Given the description of an element on the screen output the (x, y) to click on. 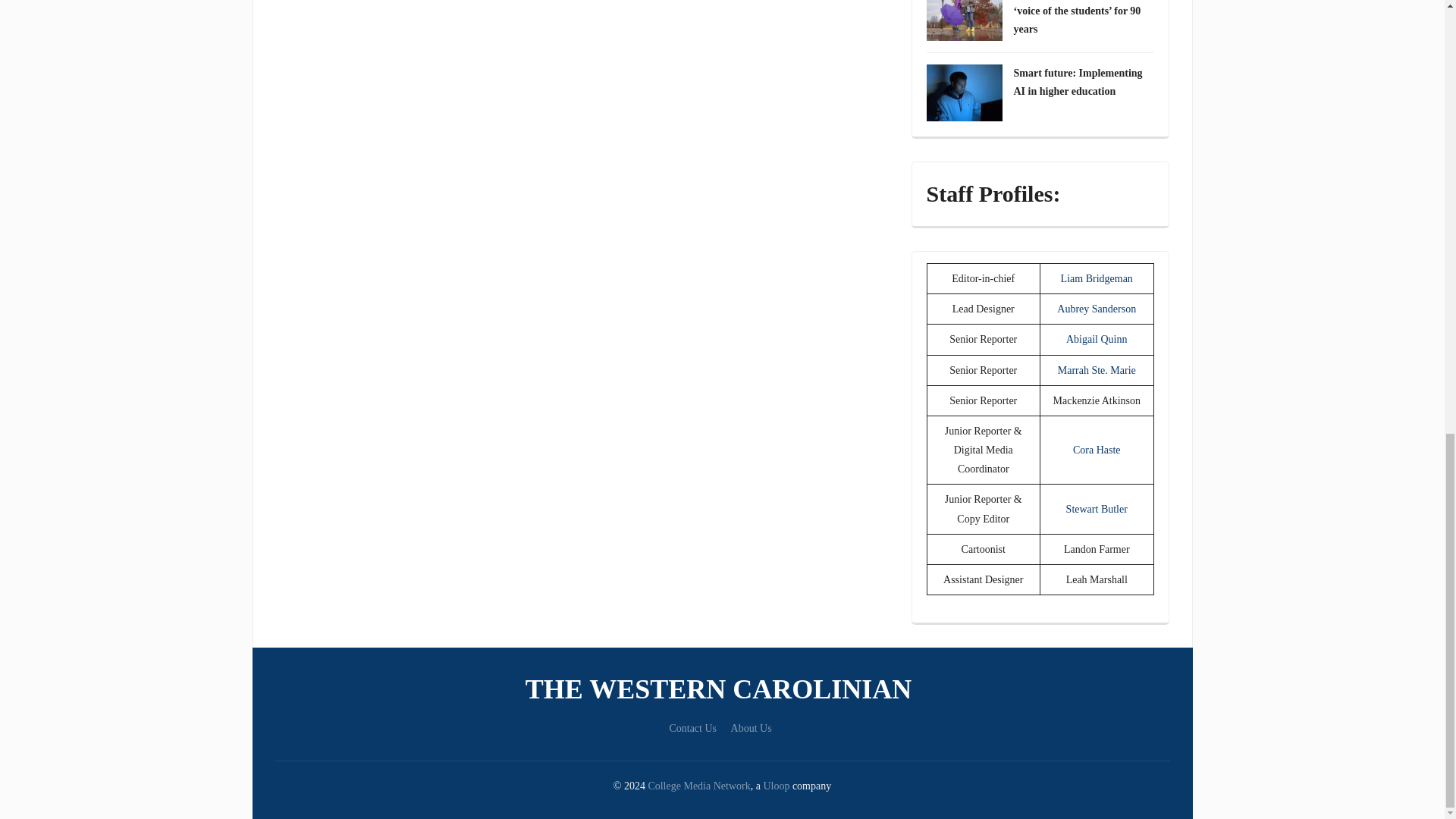
Western Carolina University's source for student-led news. (721, 688)
